Given the description of an element on the screen output the (x, y) to click on. 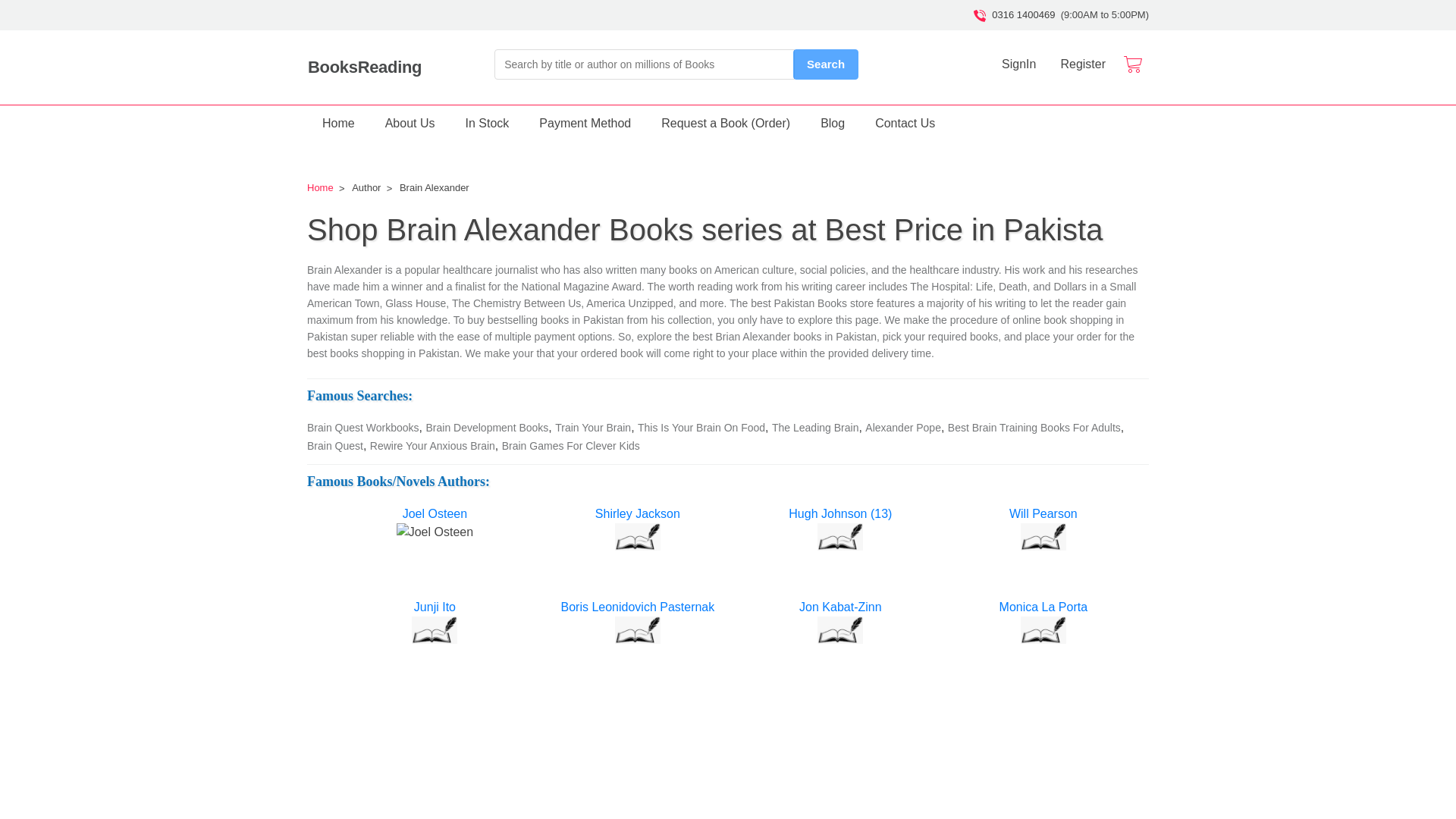
Monica La Porta (1042, 607)
In Stock (486, 123)
Blog (832, 123)
The Leading Brain (815, 427)
Rewire Your Anxious Brain (432, 445)
Search (826, 64)
This Is Your Brain On Food (701, 427)
Will Pearson (1042, 514)
Joel Osteen (434, 514)
Train Your Brain (592, 427)
